Given the description of an element on the screen output the (x, y) to click on. 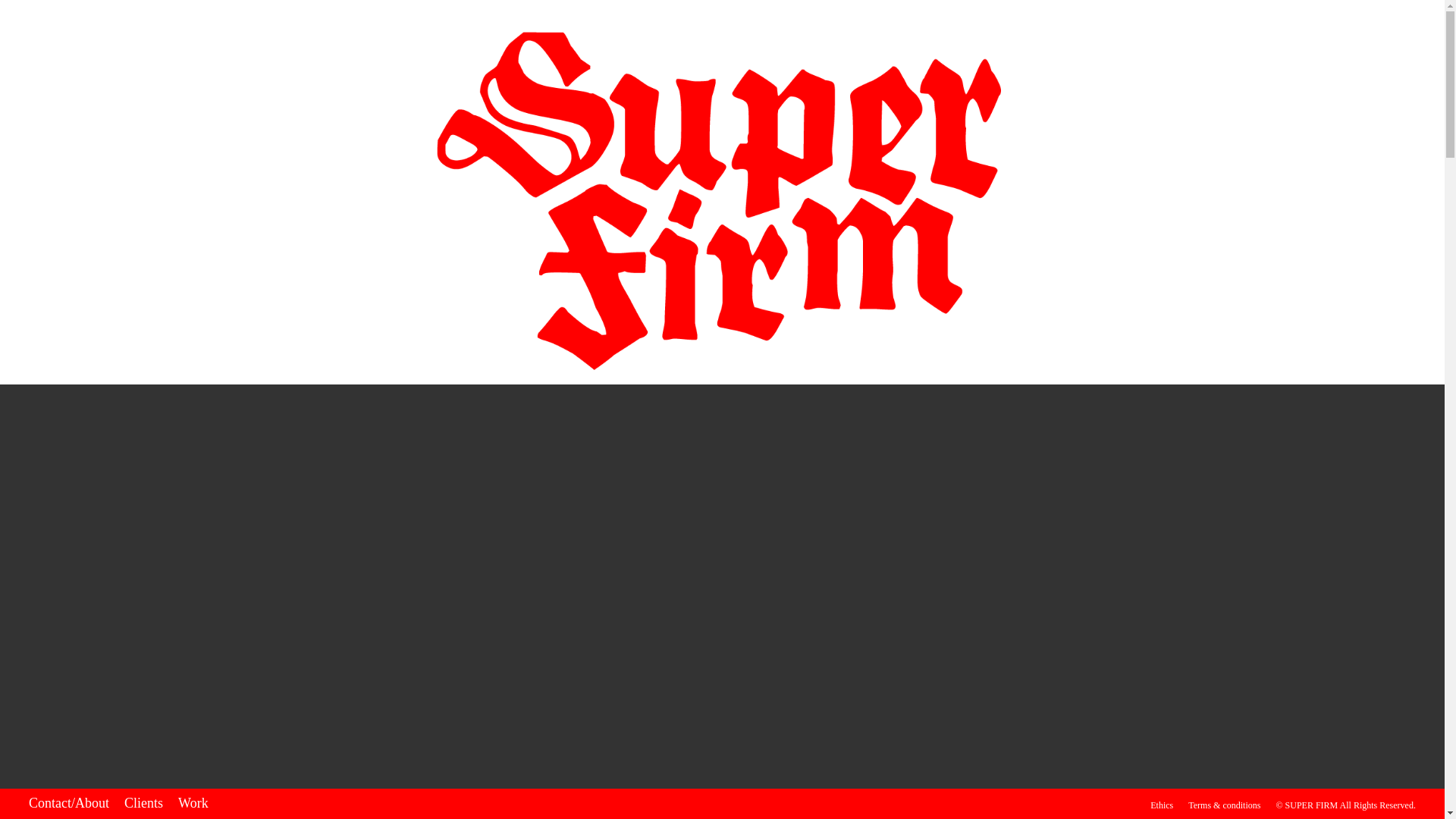
Ethics (1161, 805)
Work (192, 802)
Clients (143, 802)
